Given the description of an element on the screen output the (x, y) to click on. 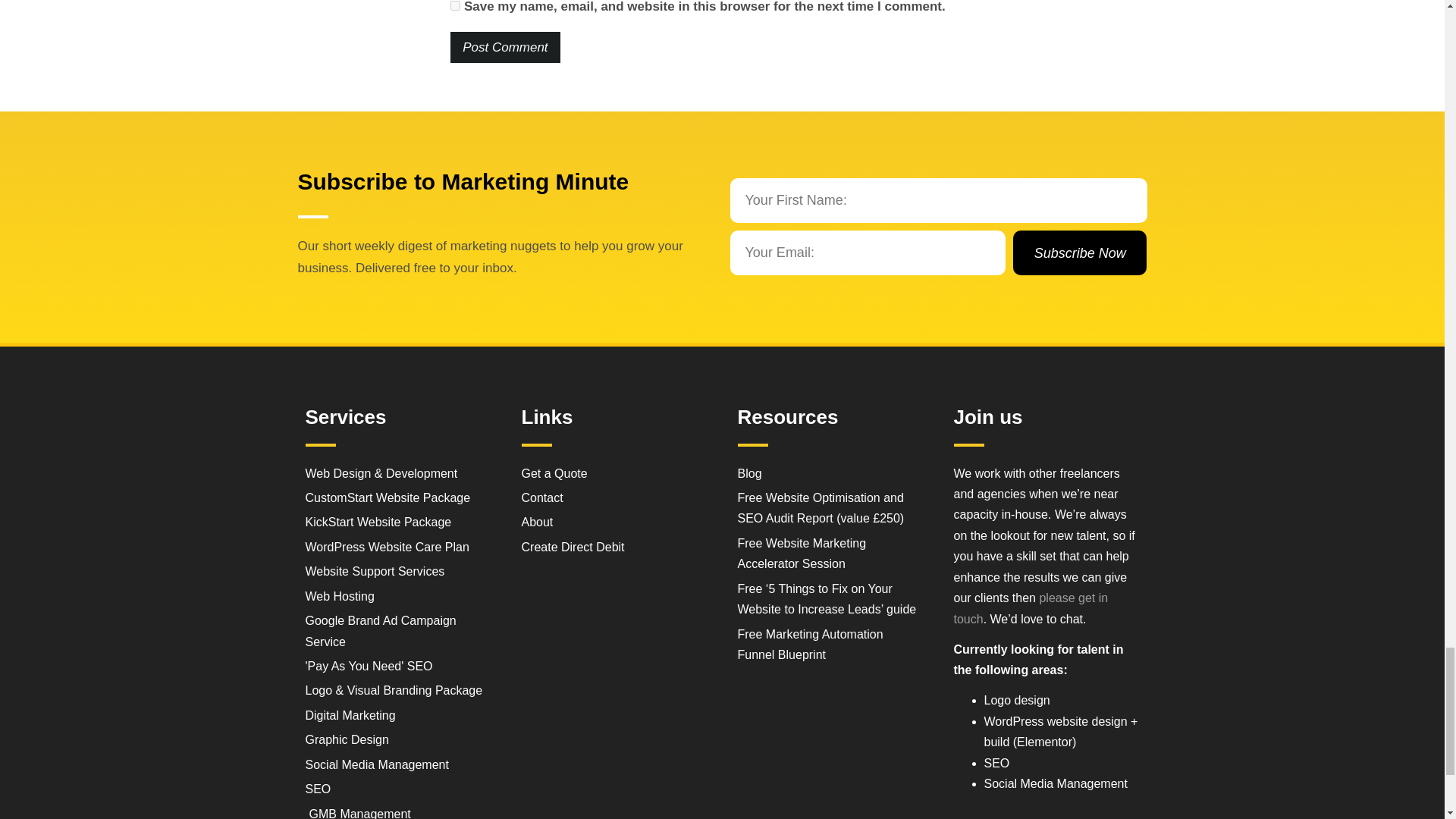
Post Comment (504, 47)
yes (454, 5)
Post Comment (504, 47)
